Given the description of an element on the screen output the (x, y) to click on. 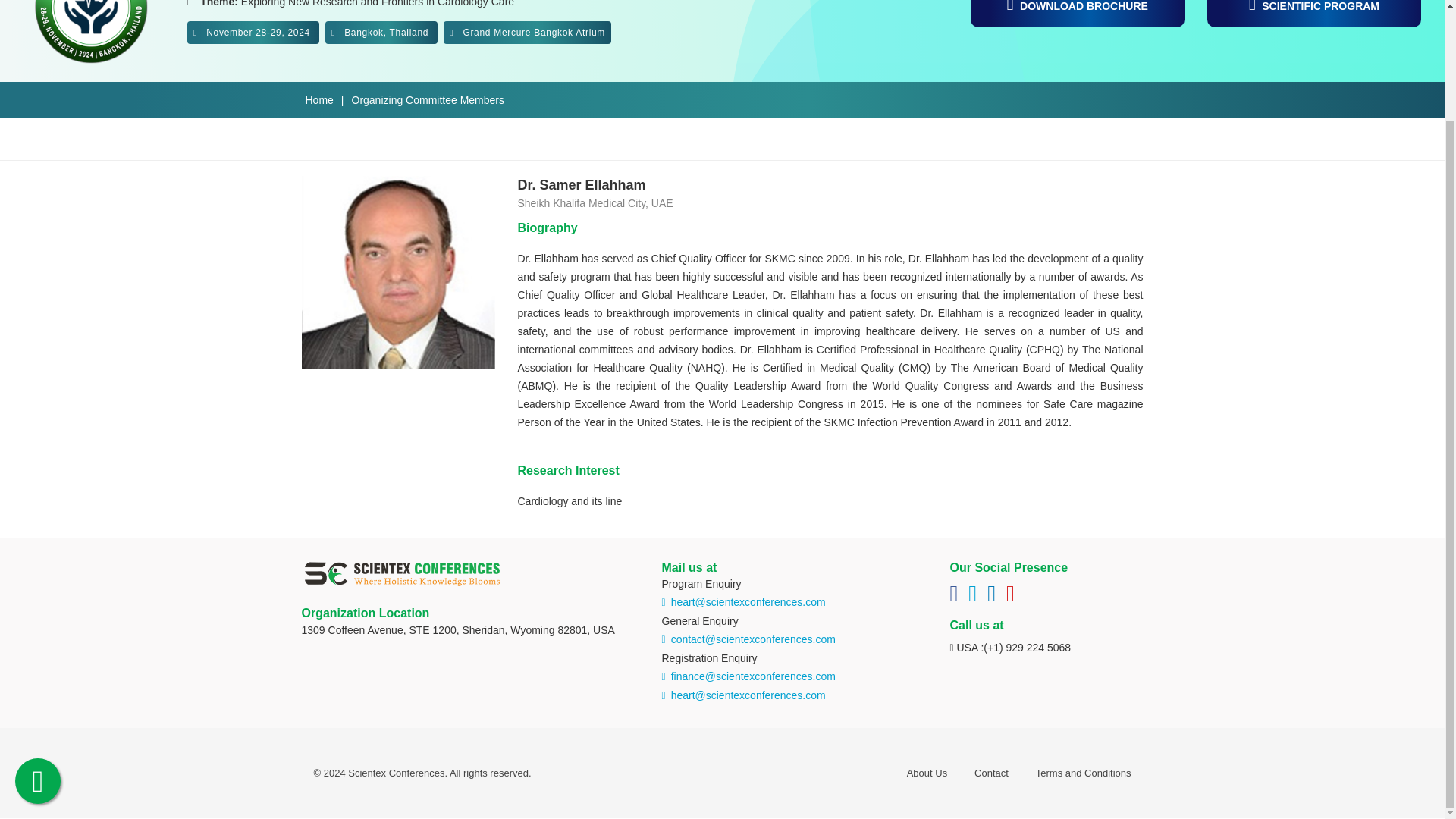
Contact (991, 772)
Terms and Conditions (1083, 772)
About Us (927, 772)
DOWNLOAD BROCHURE (1078, 13)
SCIENTIFIC PROGRAM (1314, 13)
Home (318, 100)
